Given the description of an element on the screen output the (x, y) to click on. 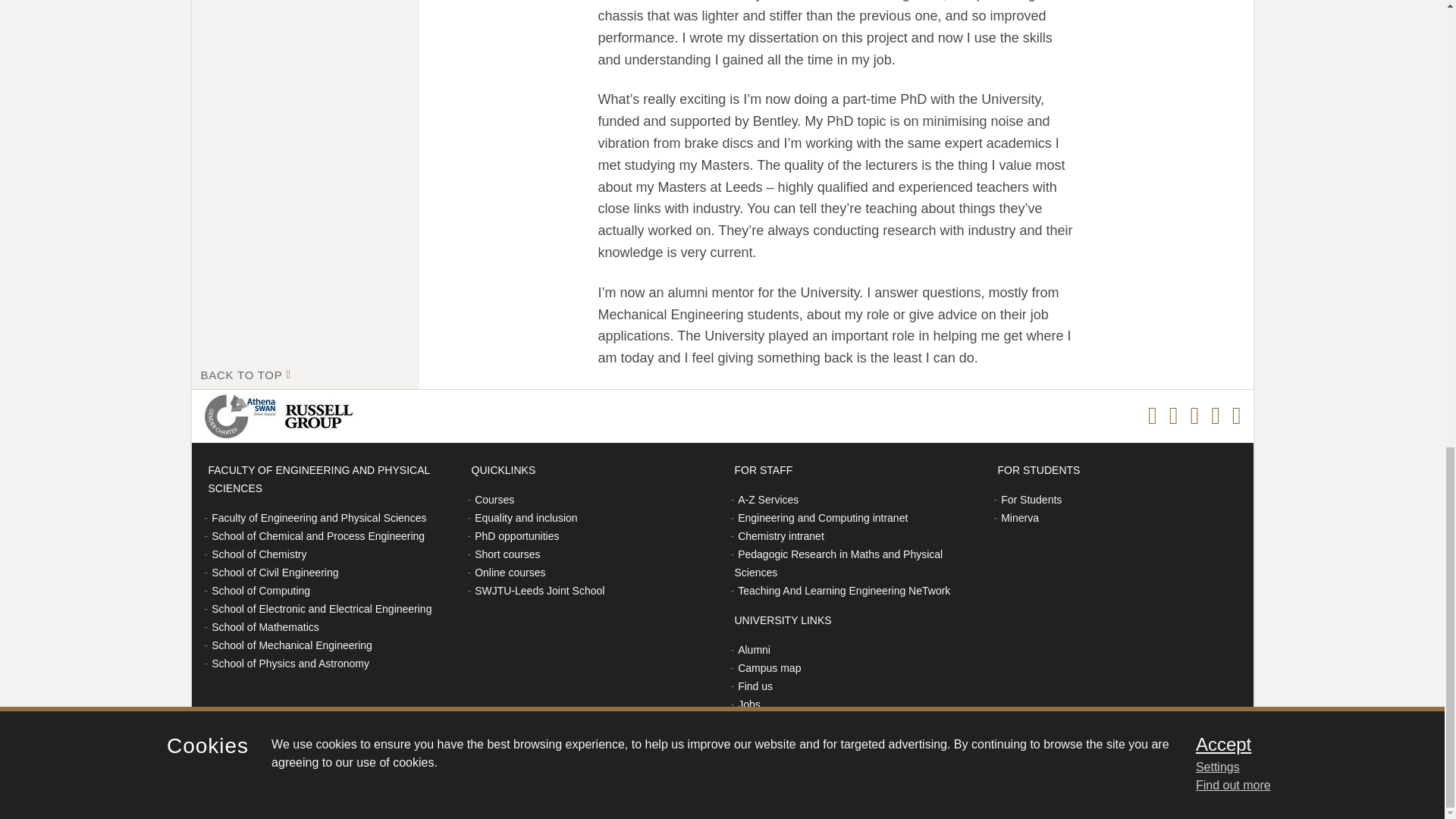
Go to Twitter page (1193, 416)
Go to Instagram page (1173, 416)
Go to Facebook page (1152, 416)
Visit Russell Group (320, 415)
Visit Athena SWAN Silver award (242, 415)
Go to YouTube page (1236, 416)
Go to Weibo page (1215, 416)
